Given the description of an element on the screen output the (x, y) to click on. 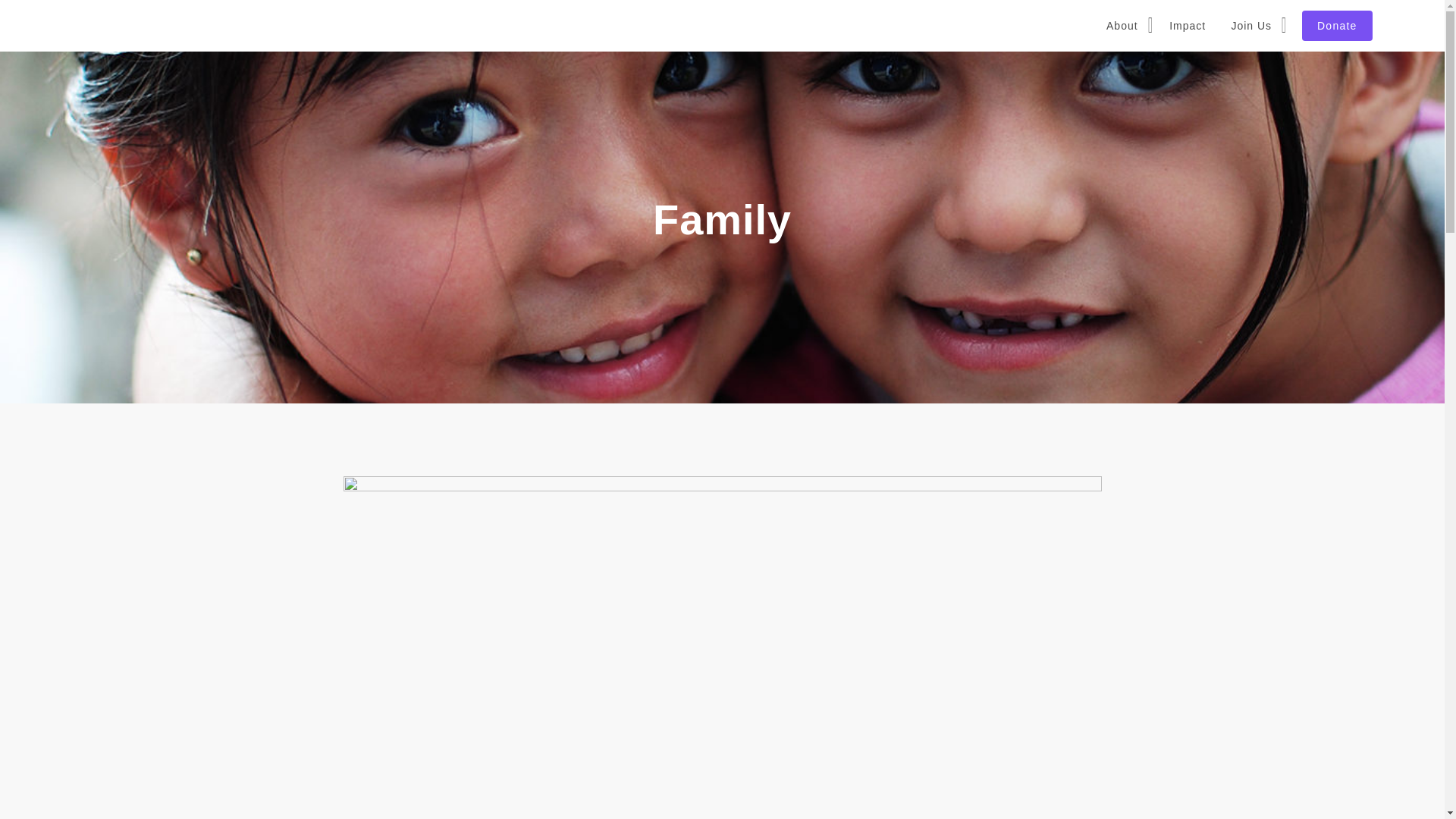
About (1124, 25)
Impact (1187, 25)
Donate (1337, 25)
Join Us (1254, 25)
